Given the description of an element on the screen output the (x, y) to click on. 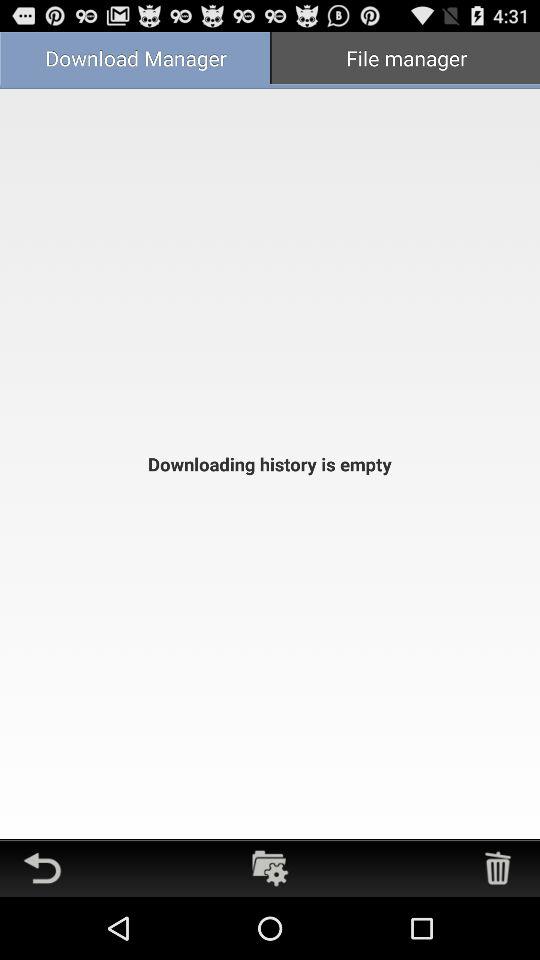
select the icon above downloading history is item (135, 60)
